Given the description of an element on the screen output the (x, y) to click on. 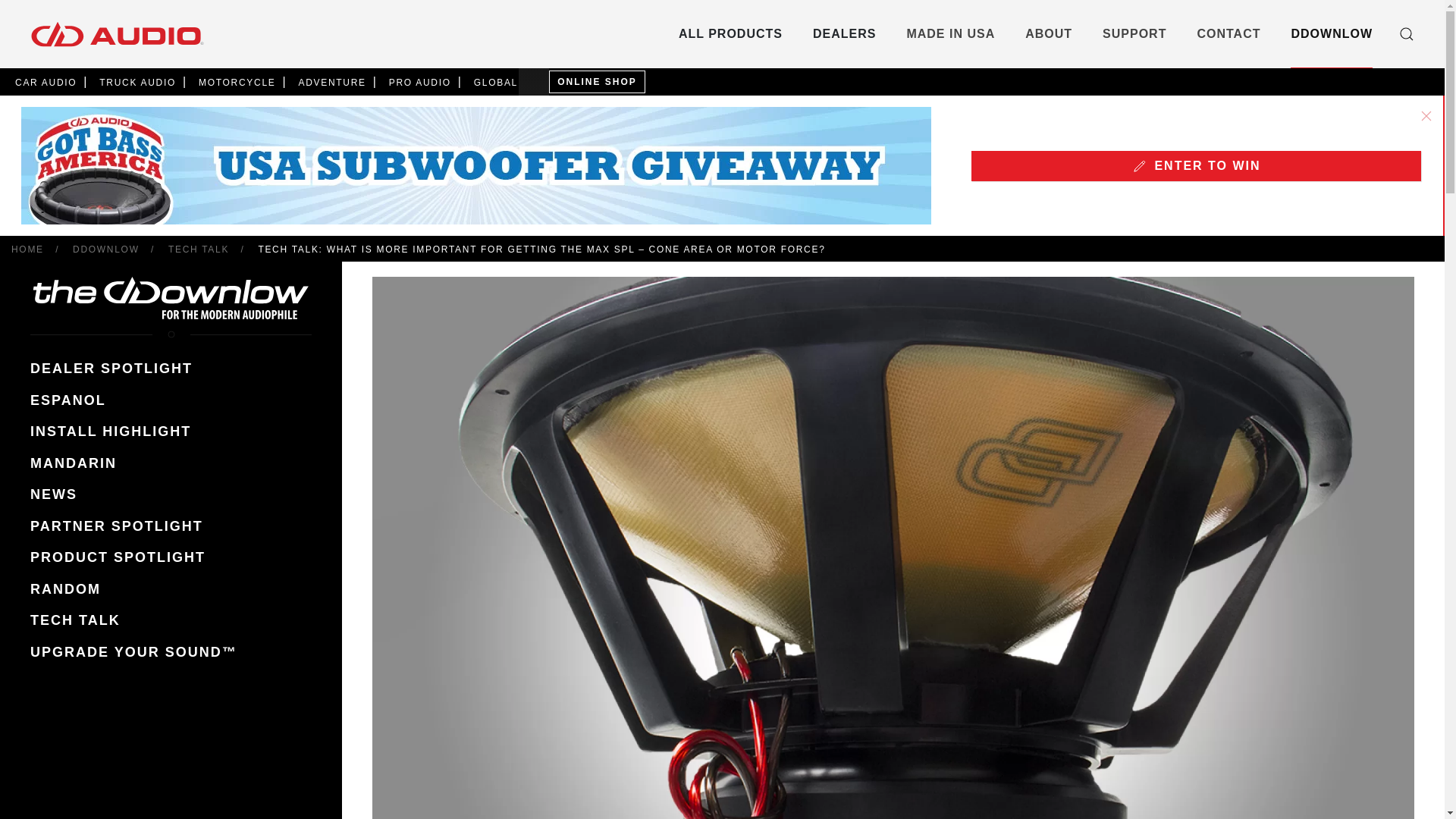
DDOWNLOW (1331, 33)
ABOUT (1048, 33)
Contact Forms and Information (1227, 33)
CONTACT (1227, 33)
Support Information (1134, 33)
DEALERS (844, 33)
Information About DD Audio (1048, 33)
ALL PRODUCTS (730, 33)
Enter to win link (1196, 164)
SUPPORT (1134, 33)
